Given the description of an element on the screen output the (x, y) to click on. 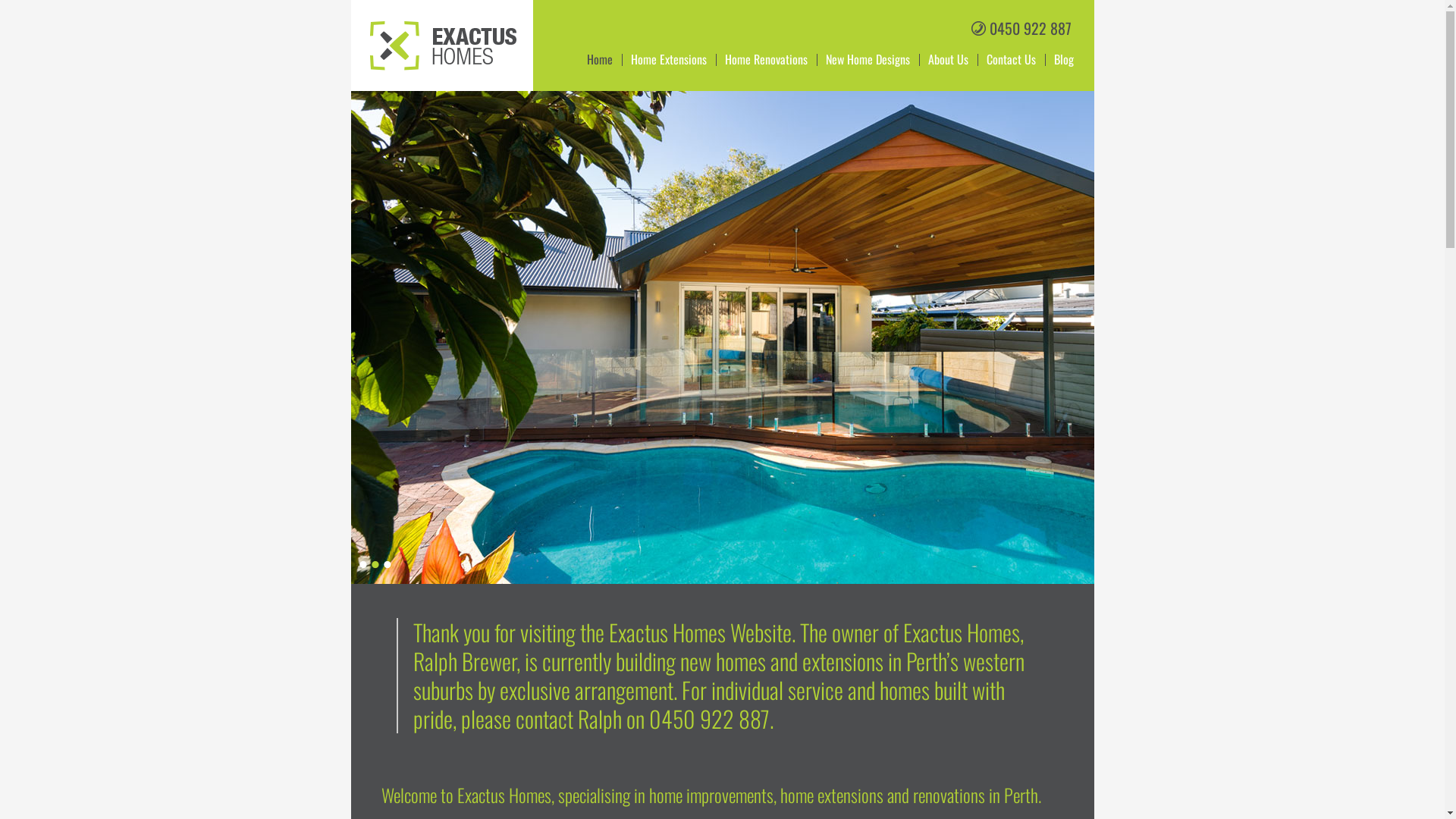
Blog Element type: text (1063, 59)
2 Element type: text (374, 564)
1 Element type: text (362, 564)
New Home Designs Element type: text (866, 59)
Contact Us Element type: text (1010, 59)
Home Extensions Element type: text (668, 59)
About Us Element type: text (948, 59)
Home Renovations Element type: text (765, 59)
Home Element type: text (599, 59)
Exactus Homes Element type: hover (442, 45)
Exactus Homes Element type: hover (434, 68)
3 Element type: text (386, 564)
